Given the description of an element on the screen output the (x, y) to click on. 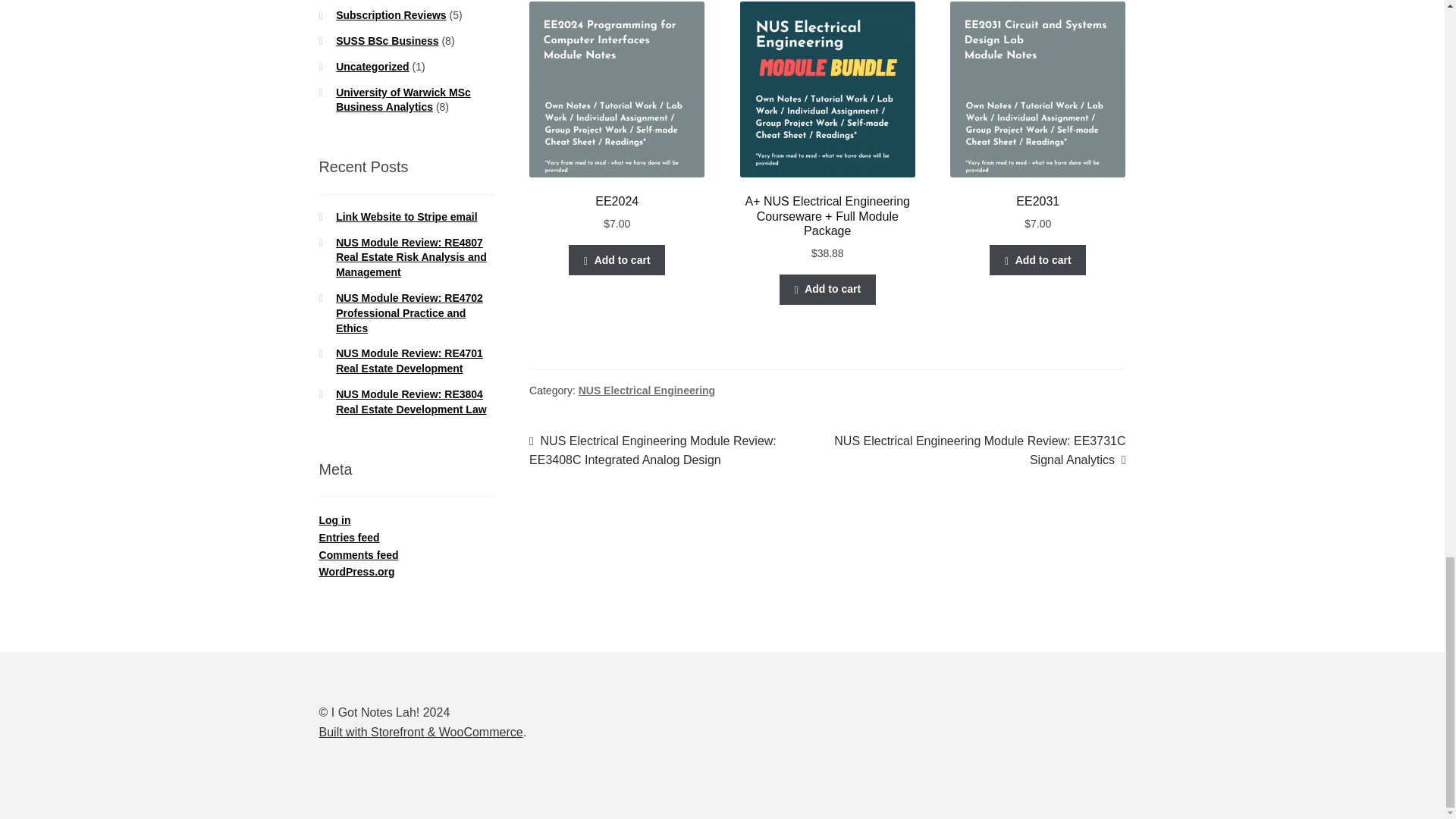
WooCommerce - The Best eCommerce Platform for WordPress (420, 731)
